Given the description of an element on the screen output the (x, y) to click on. 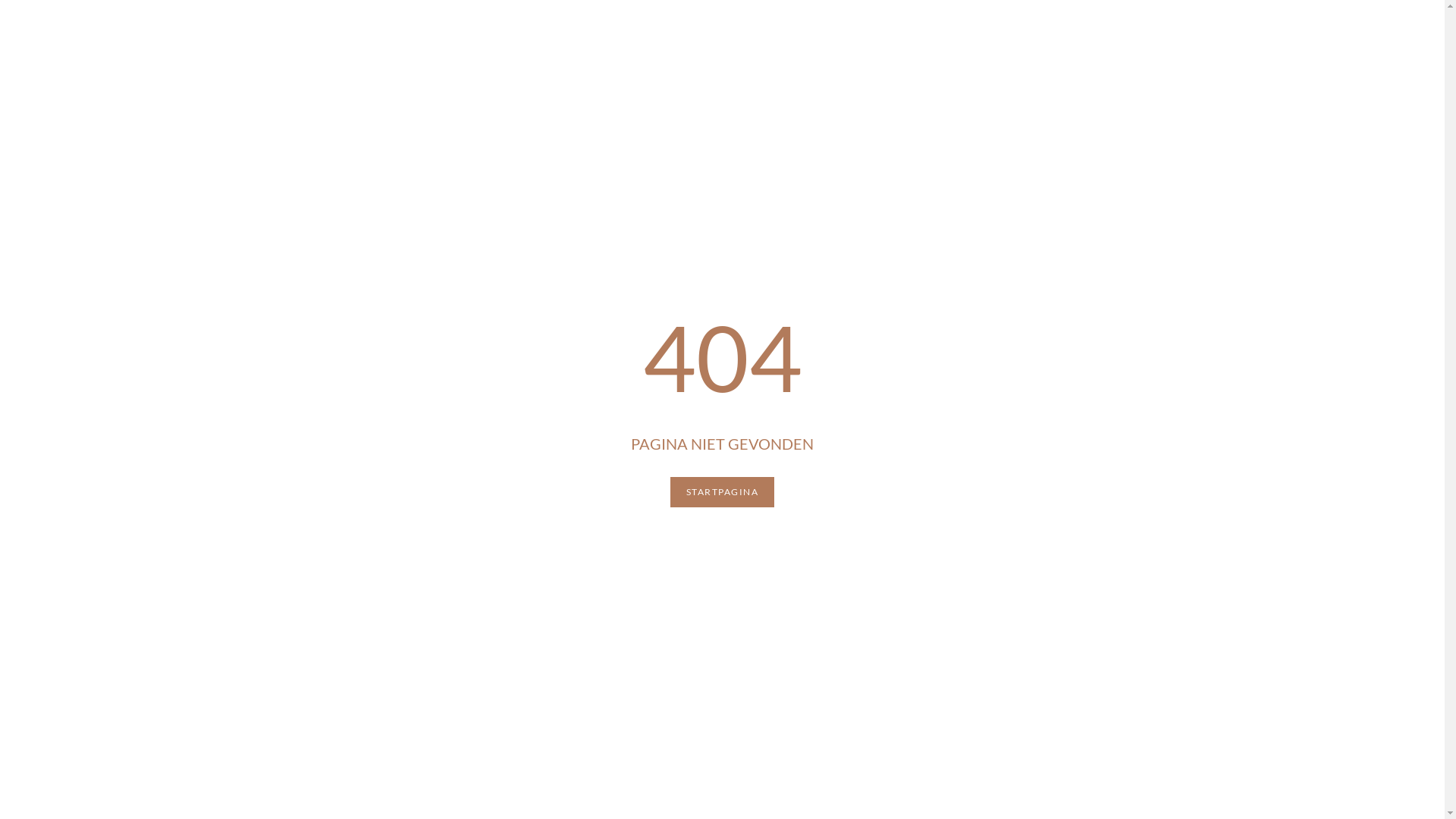
STARTPAGINA Element type: text (722, 491)
